Given the description of an element on the screen output the (x, y) to click on. 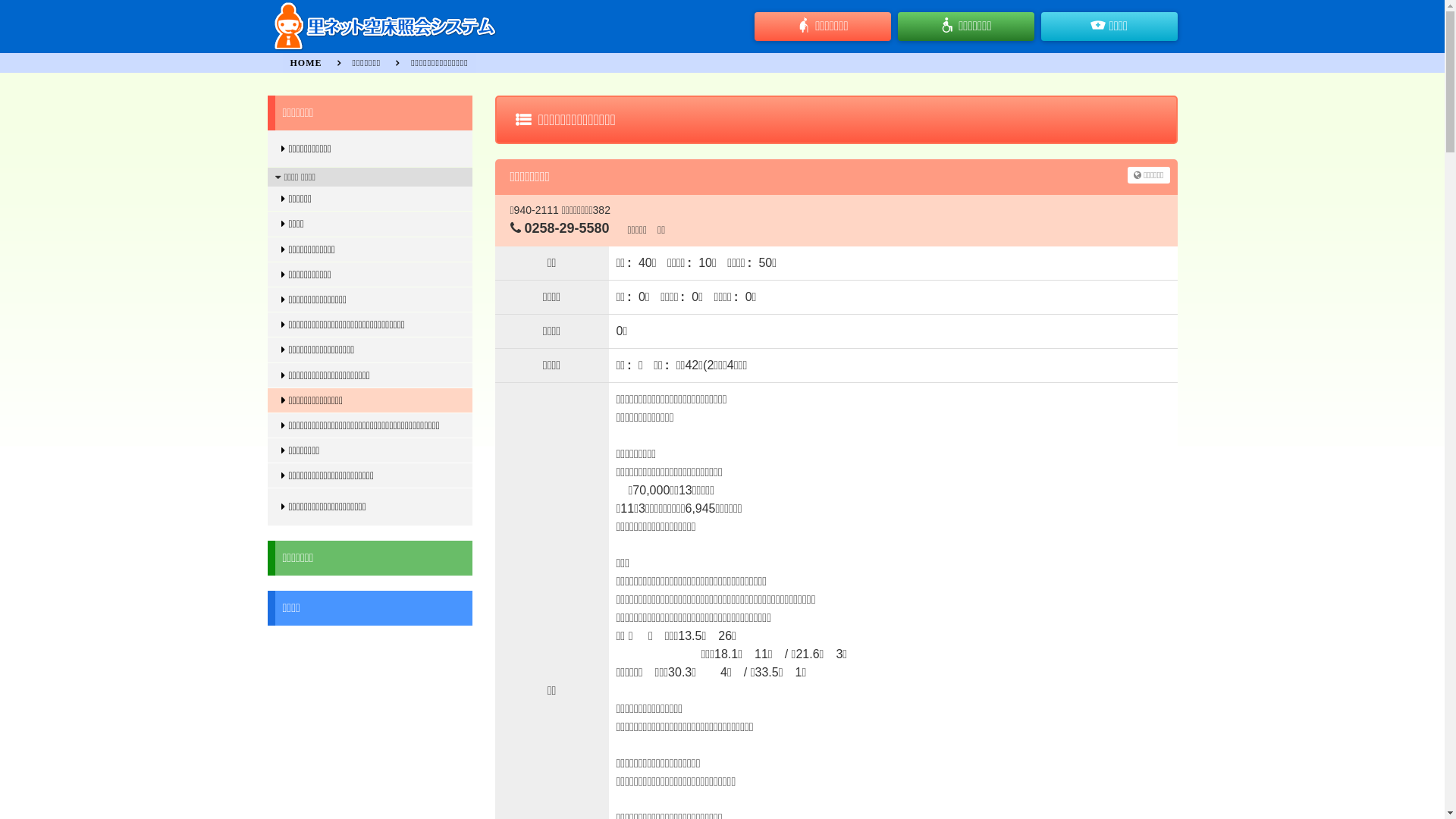
HOME Element type: text (305, 62)
